Given the description of an element on the screen output the (x, y) to click on. 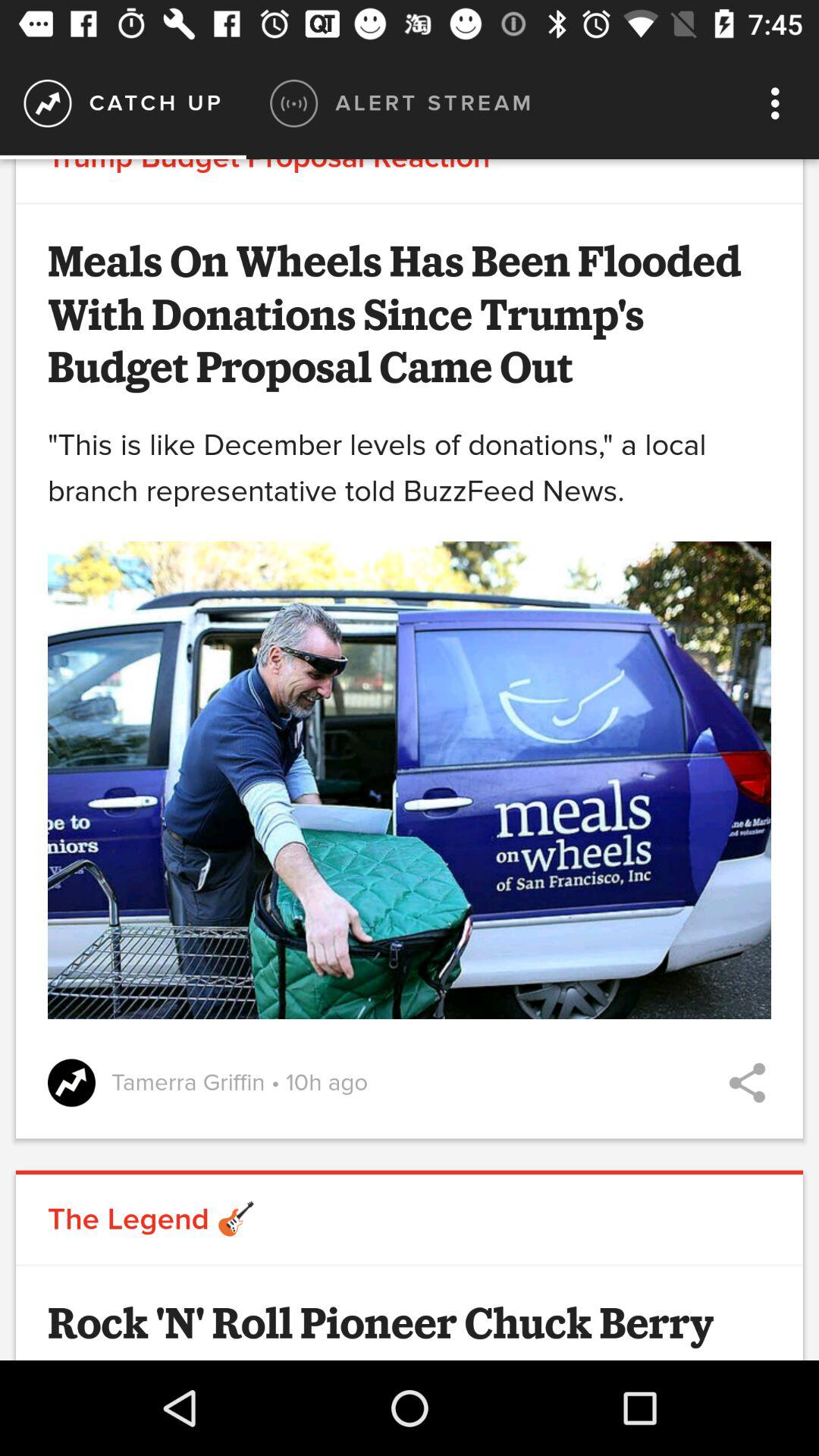
share the article (747, 1082)
